Given the description of an element on the screen output the (x, y) to click on. 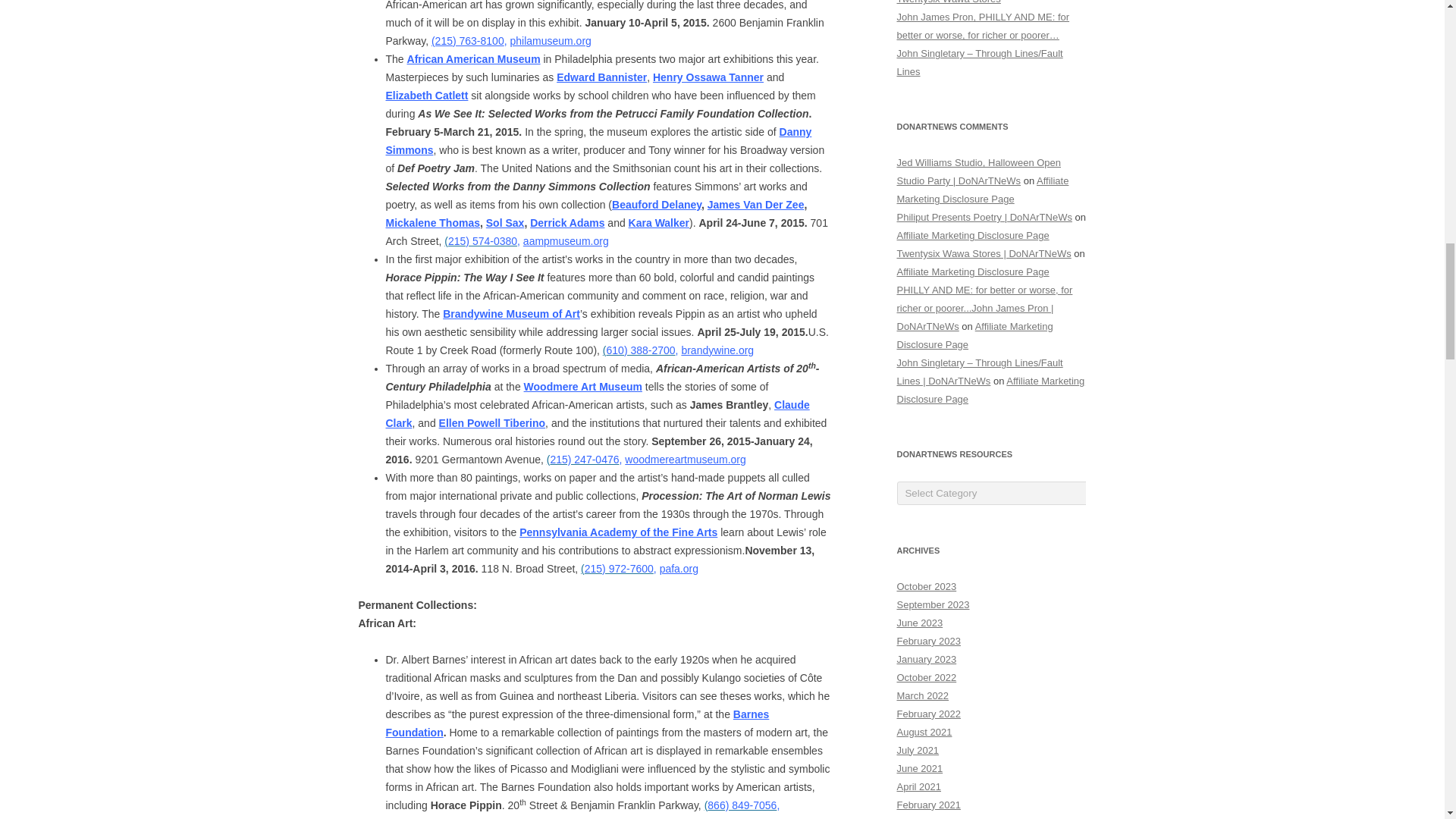
Danny Simmons (597, 141)
Beauford Delaney (656, 204)
Mickalene Thomas (432, 223)
James Van Der Zee (756, 204)
philamuseum.org (550, 40)
African American Museum (473, 59)
Edward Bannister (601, 77)
Elizabeth Catlett (426, 95)
Henry Ossawa Tanner (707, 77)
